Given the description of an element on the screen output the (x, y) to click on. 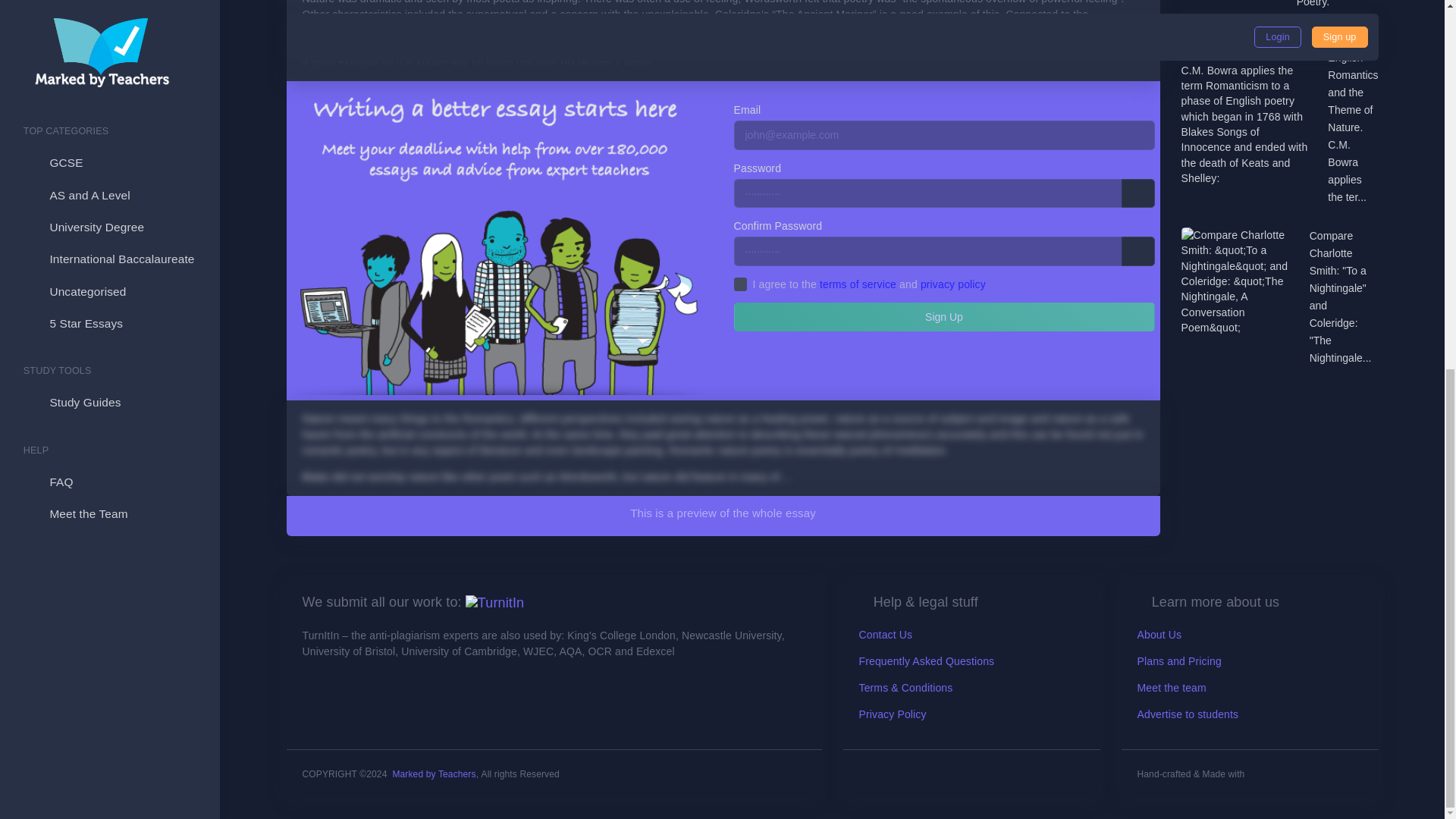
Frequently Asked Questions (926, 661)
terms of service (857, 284)
privacy policy (952, 284)
Contact Us (885, 634)
Marked by Teachers (433, 774)
Sign Up (943, 316)
Personal Response to Emily Dickinson's Poetry. (1337, 5)
on (740, 284)
